Given the description of an element on the screen output the (x, y) to click on. 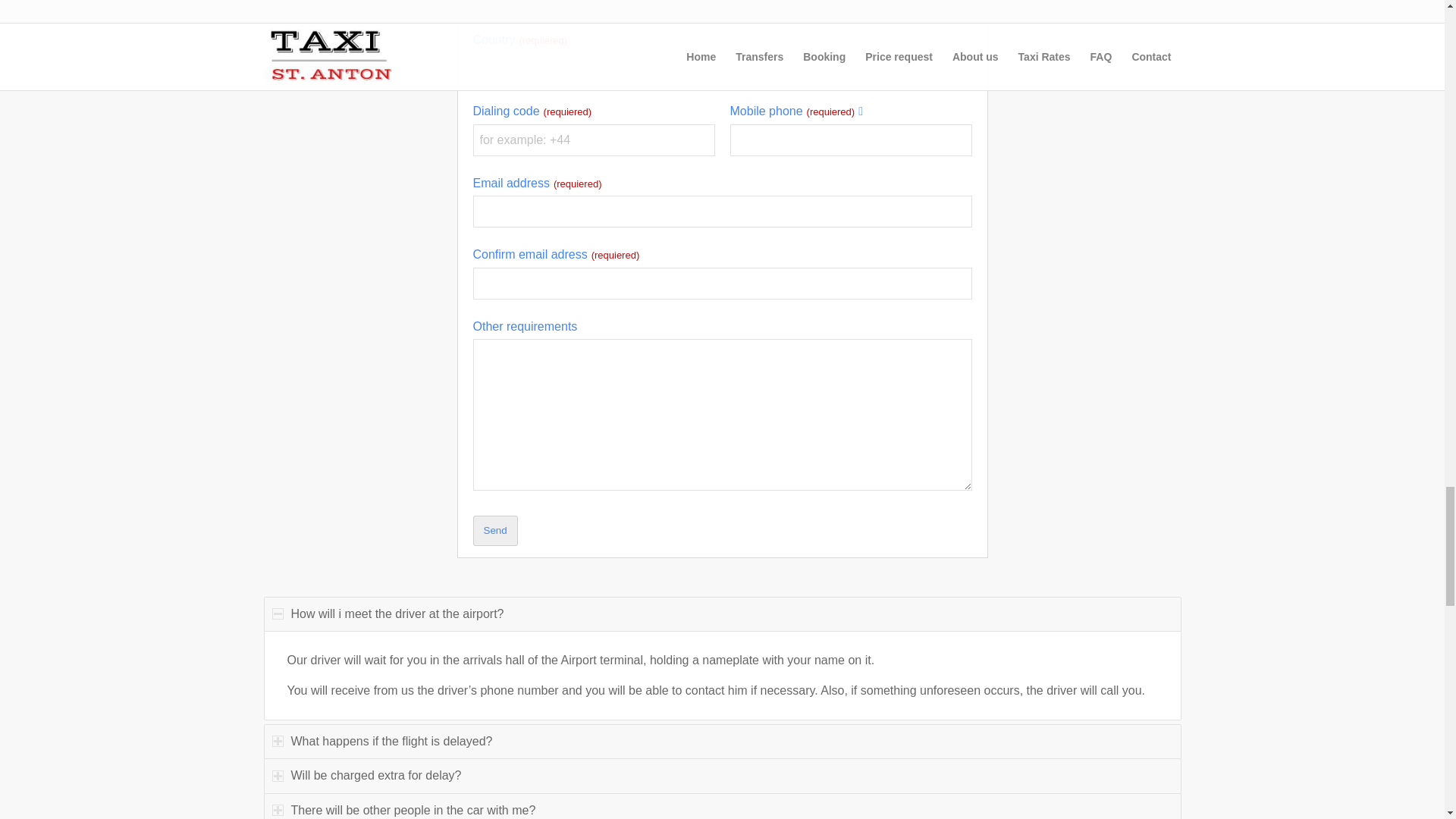
Send (495, 530)
